Given the description of an element on the screen output the (x, y) to click on. 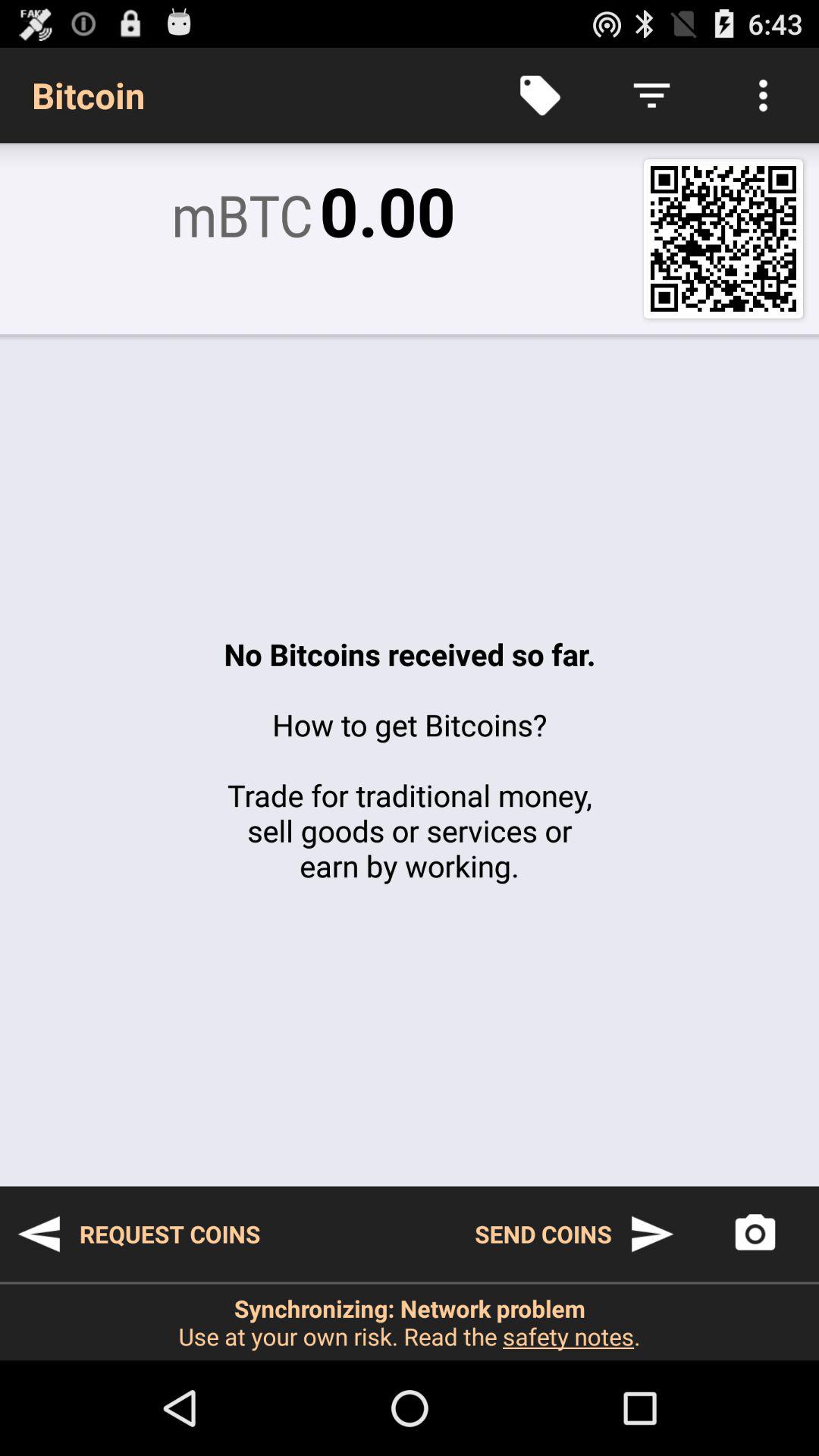
open icon above the synchronizing network problem (755, 1233)
